Given the description of an element on the screen output the (x, y) to click on. 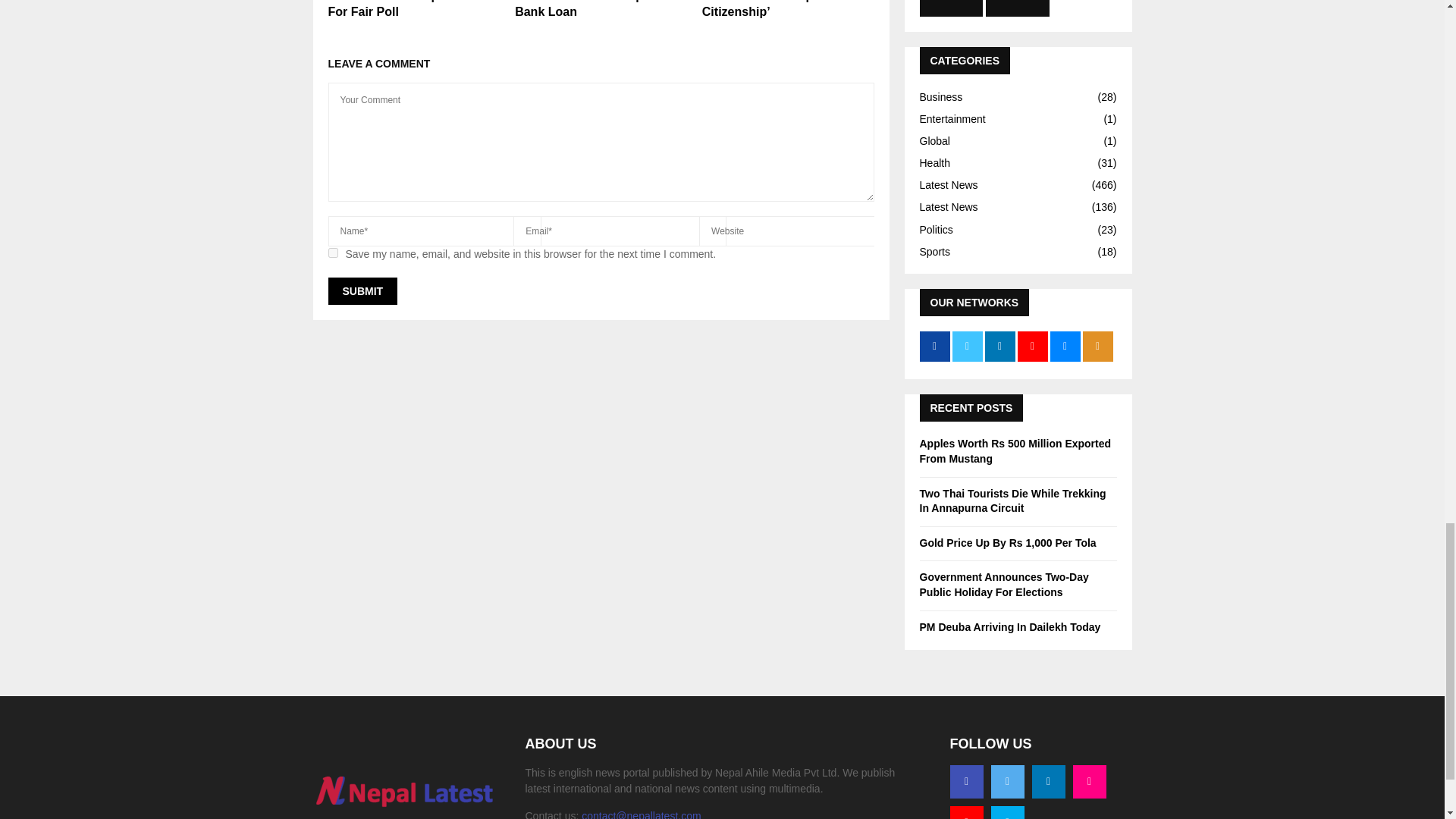
yes (332, 252)
Submit (362, 290)
